Given the description of an element on the screen output the (x, y) to click on. 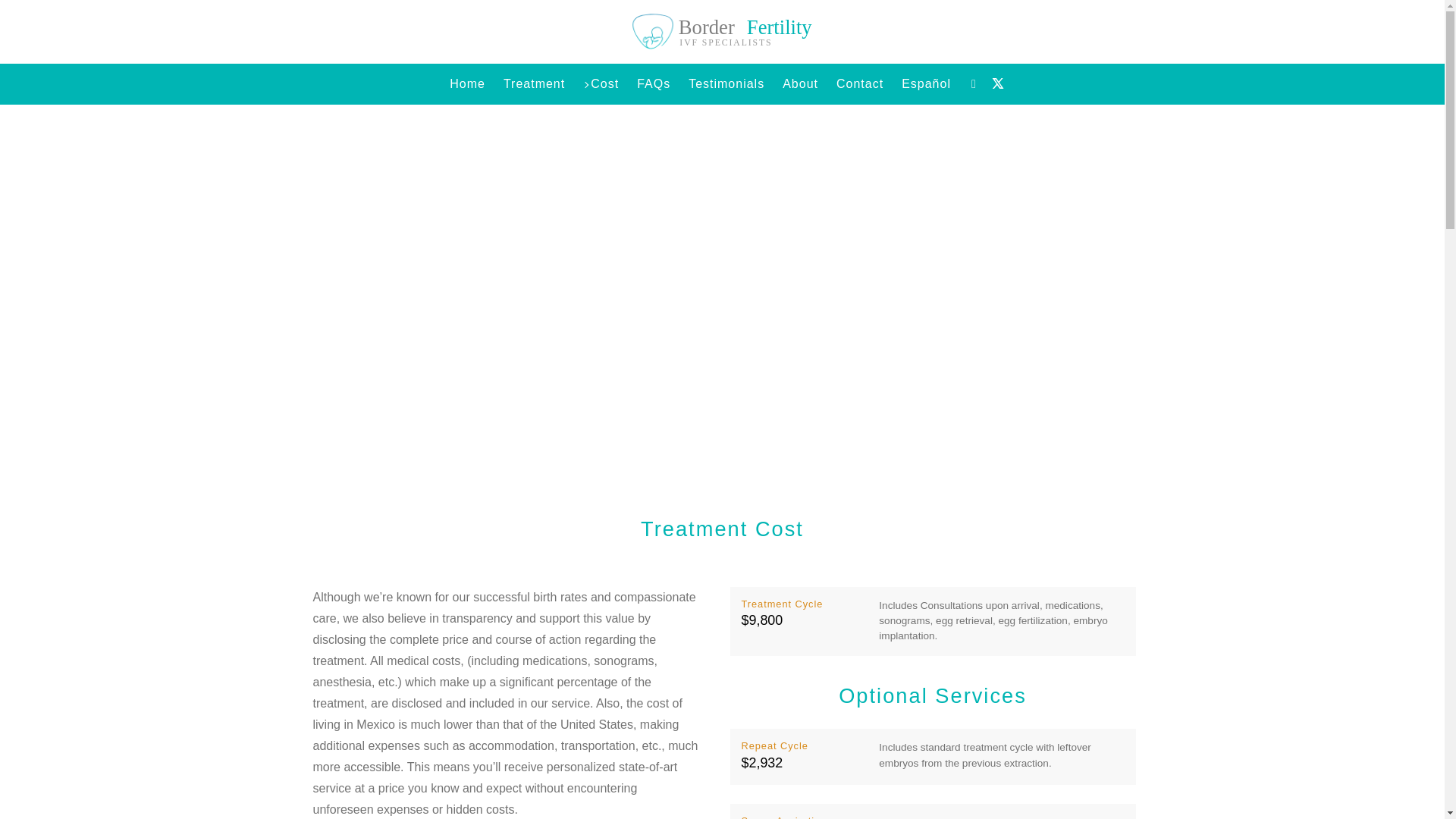
Testimonials (726, 83)
Contact (859, 83)
FAQs (653, 83)
About (800, 83)
FAQs (653, 83)
Contact (859, 83)
About (800, 83)
Treatment (721, 31)
Home (533, 83)
